Given the description of an element on the screen output the (x, y) to click on. 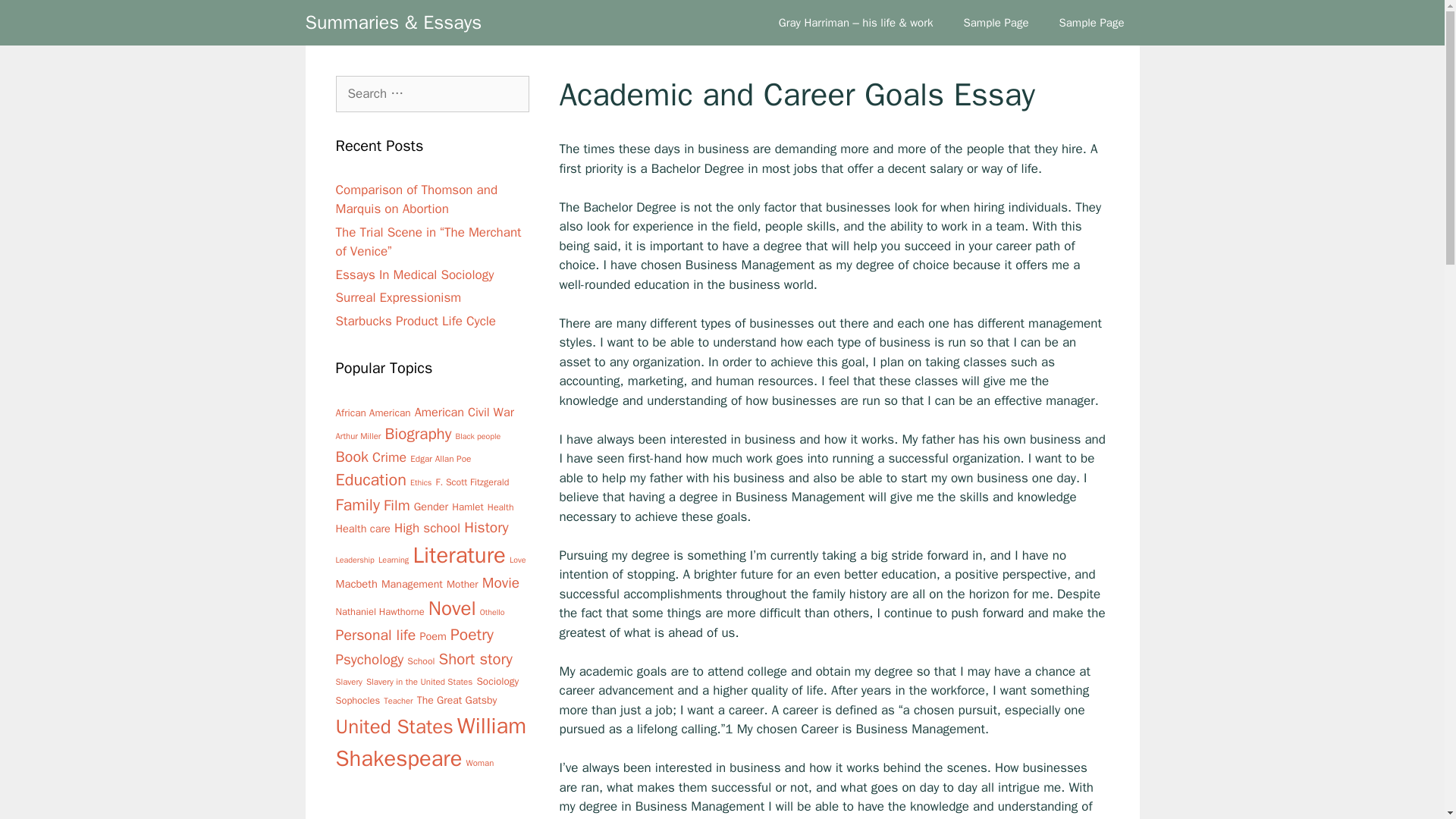
Search (35, 18)
American Civil War (463, 412)
African American (372, 412)
Search for: (431, 94)
Surreal Expressionism (397, 297)
Black people (477, 435)
Essays In Medical Sociology (413, 274)
Starbucks Product Life Cycle (415, 320)
Book (351, 456)
Arthur Miller (357, 435)
Sample Page (1090, 22)
Comparison of Thomson and Marquis on Abortion (415, 199)
Sample Page (995, 22)
Biography (418, 433)
